Given the description of an element on the screen output the (x, y) to click on. 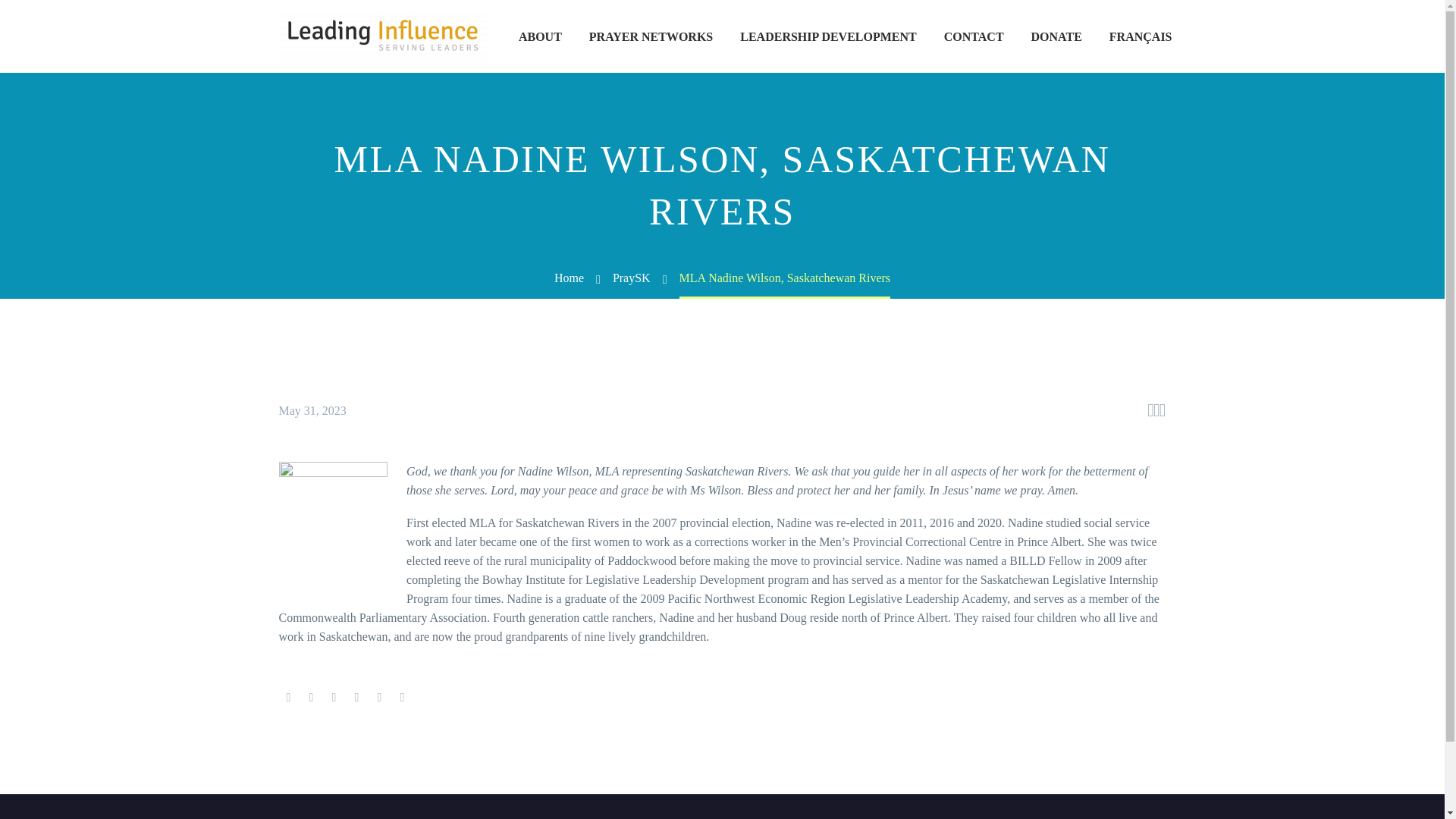
PRAYER NETWORKS (650, 36)
Home (568, 277)
ABOUT (539, 36)
CONTACT (973, 36)
Reddit (401, 697)
Tumblr (356, 697)
LinkedIn (378, 697)
DONATE (1056, 36)
LEADERSHIP DEVELOPMENT (828, 36)
Facebook (288, 697)
Twitter (310, 697)
Pinterest (333, 697)
